Given the description of an element on the screen output the (x, y) to click on. 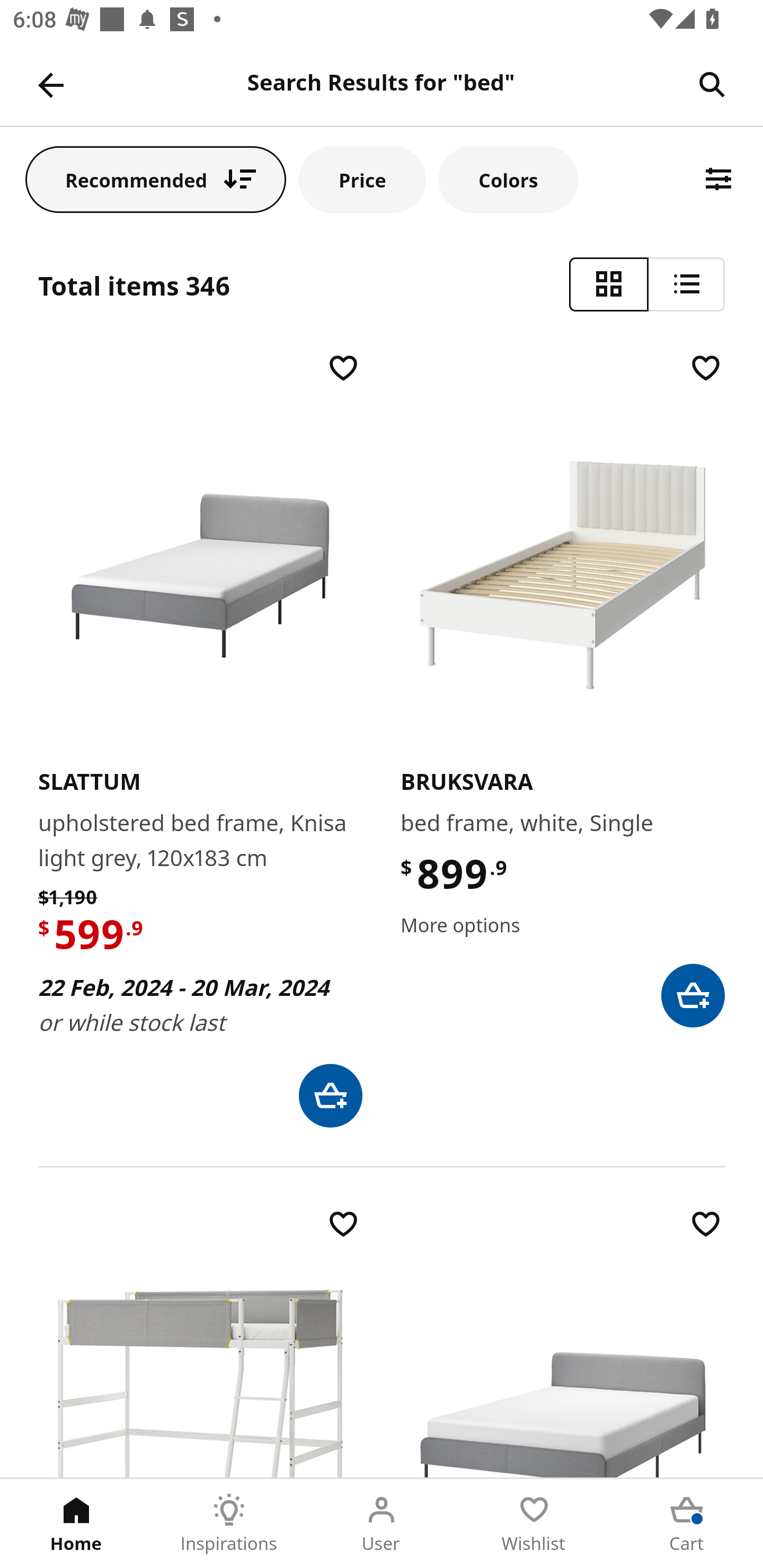
Recommended (155, 179)
Price (362, 179)
Colors (508, 179)
Home
Tab 1 of 5 (76, 1522)
Inspirations
Tab 2 of 5 (228, 1522)
User
Tab 3 of 5 (381, 1522)
Wishlist
Tab 4 of 5 (533, 1522)
Cart
Tab 5 of 5 (686, 1522)
